Given the description of an element on the screen output the (x, y) to click on. 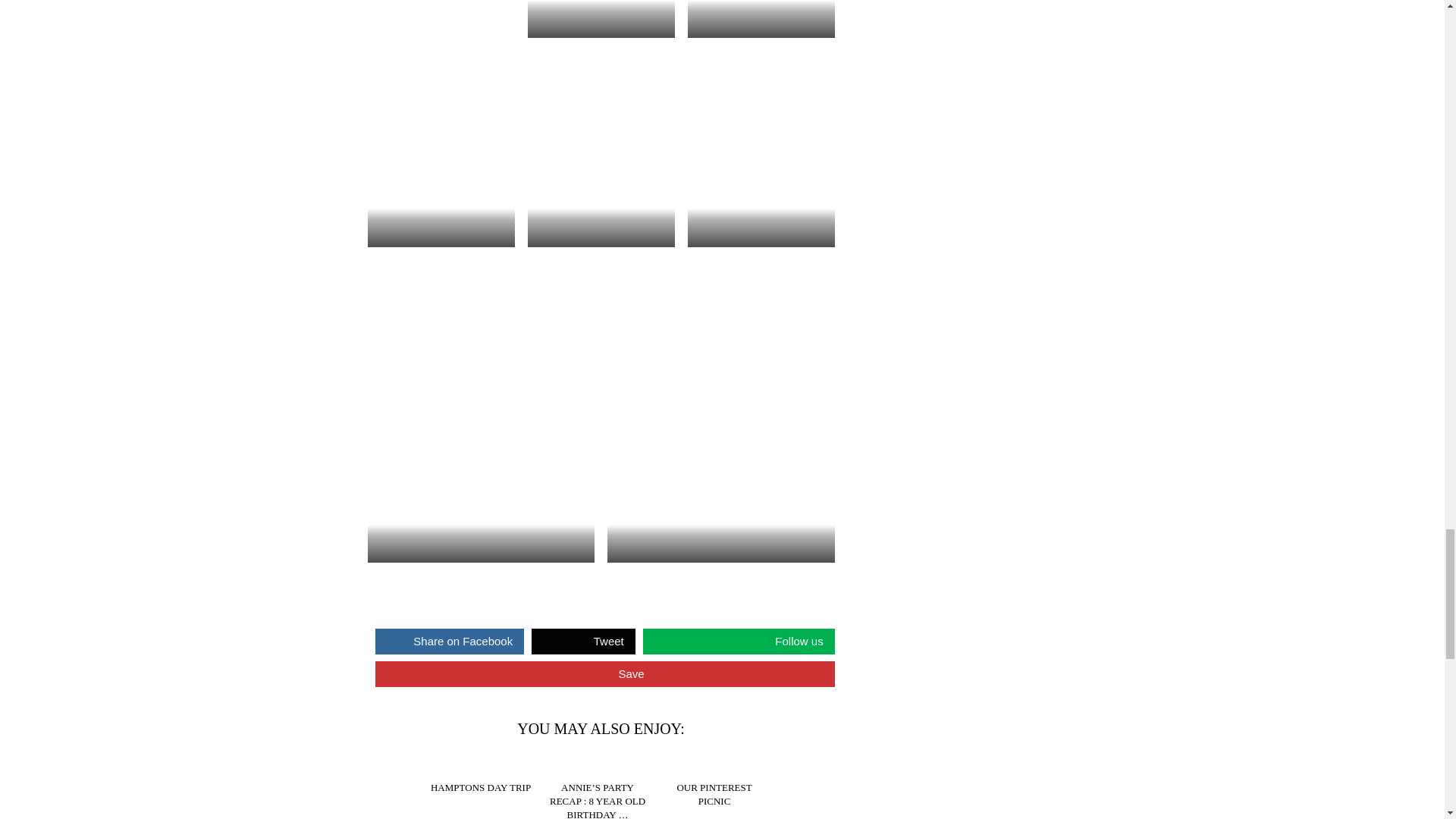
OUR PINTEREST PICNIC (718, 762)
HAMPTONS DAY TRIP (480, 787)
HAMPTONS DAY TRIP (484, 762)
